Given the description of an element on the screen output the (x, y) to click on. 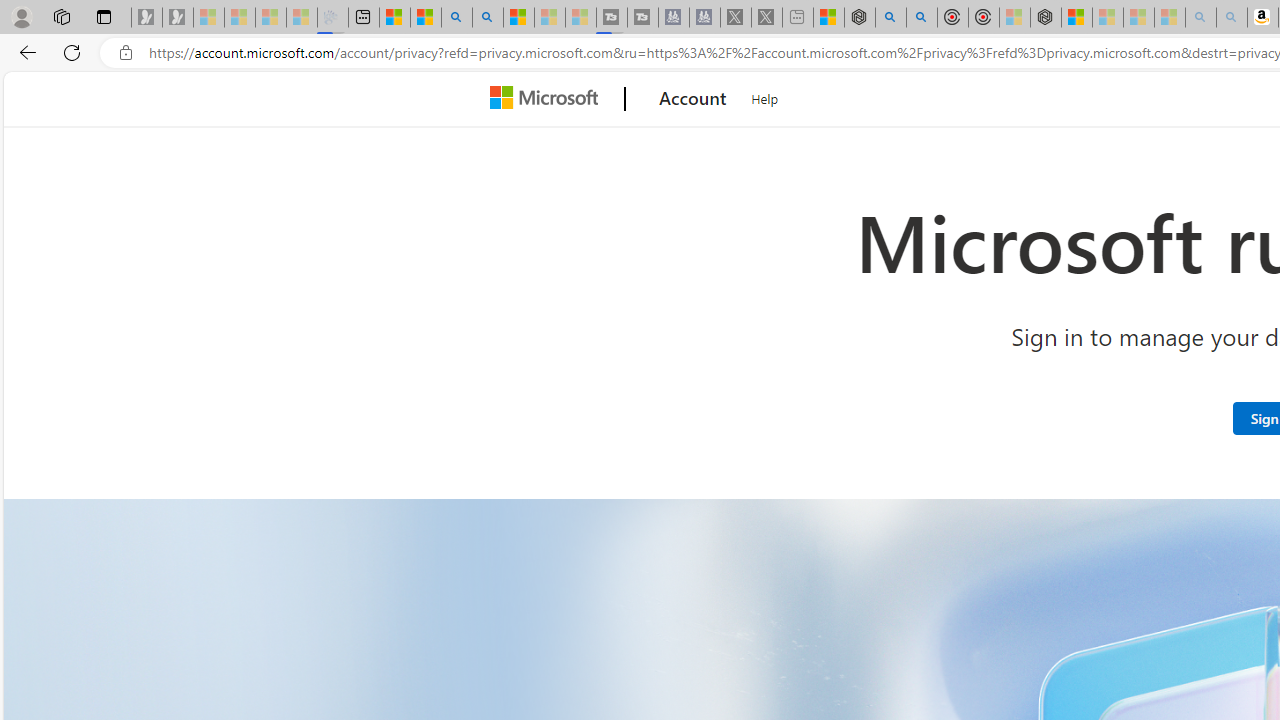
poe ++ standard - Search (921, 17)
poe - Search (890, 17)
Microsoft (548, 99)
Account (692, 99)
